Given the description of an element on the screen output the (x, y) to click on. 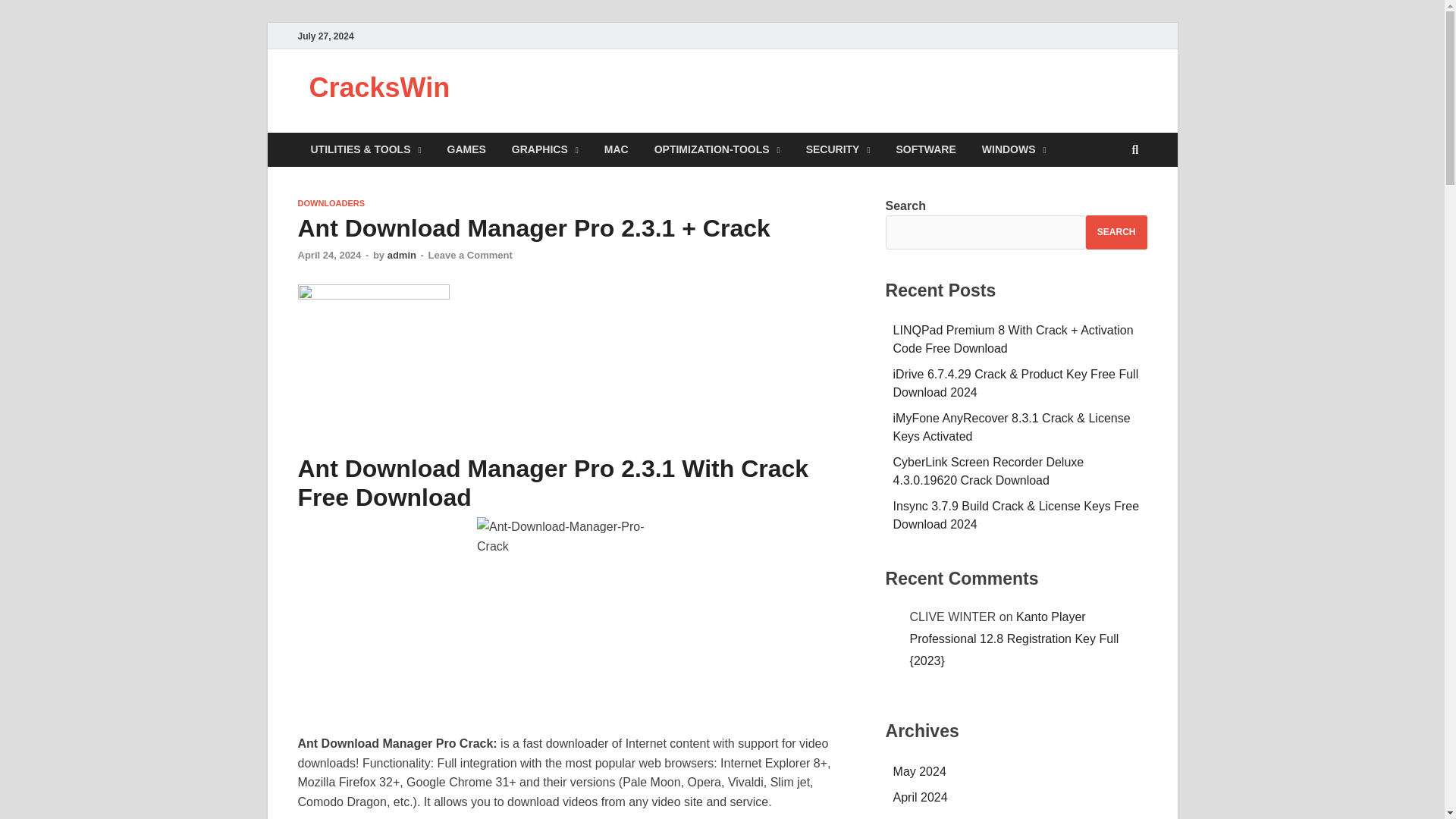
SOFTWARE (925, 149)
WINDOWS (1014, 149)
SECURITY (838, 149)
OPTIMIZATION-TOOLS (717, 149)
GAMES (465, 149)
CracksWin (378, 87)
GRAPHICS (545, 149)
MAC (616, 149)
